Given the description of an element on the screen output the (x, y) to click on. 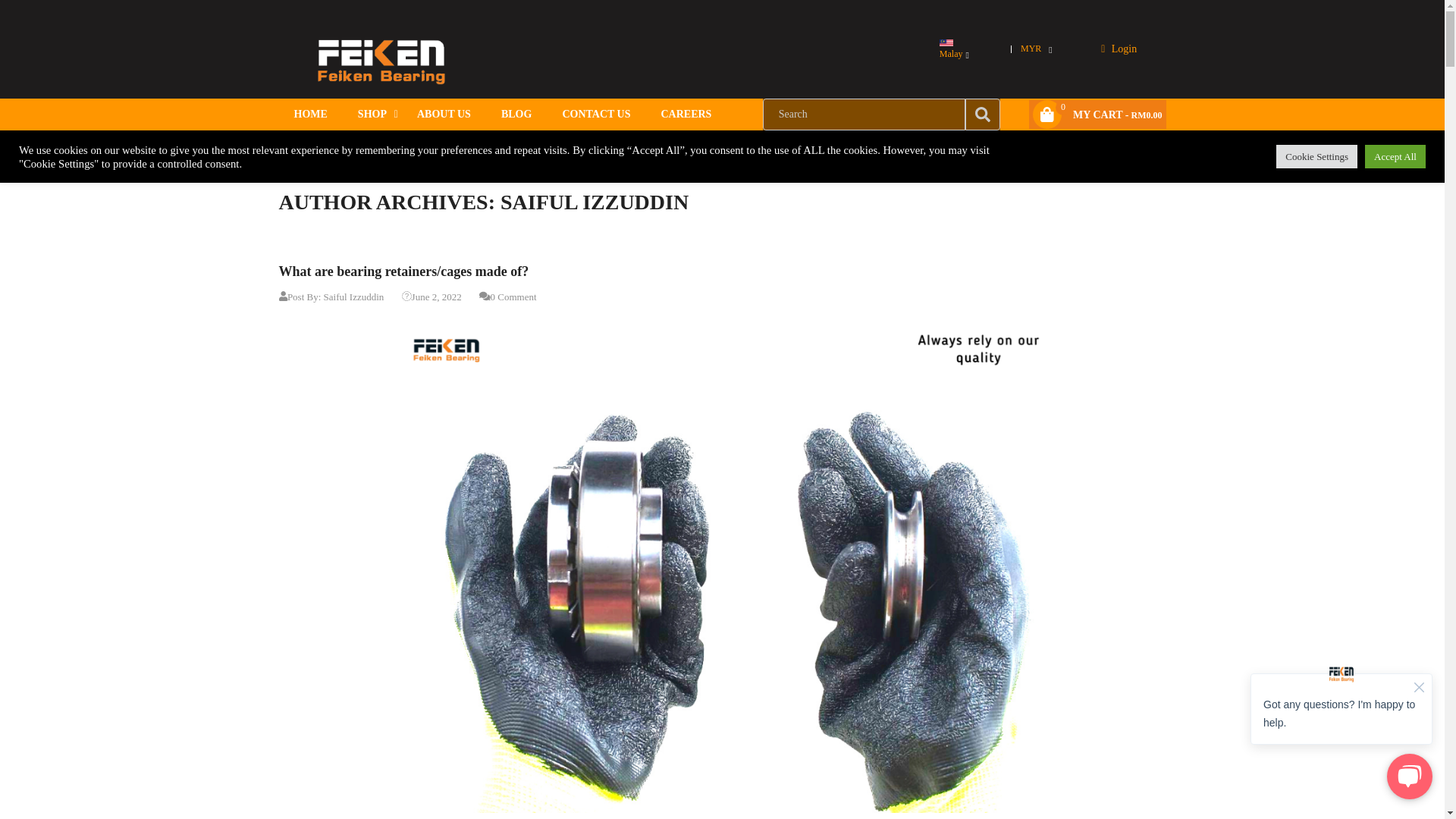
Malay (946, 42)
Malay (952, 49)
Login (1124, 49)
0 Comment (508, 296)
HOME (310, 114)
CONTACT US (596, 114)
Home (290, 146)
SHOP (371, 114)
Saiful Izzuddin (353, 296)
ABOUT US (443, 114)
June 2, 2022 (431, 296)
BLOG (516, 114)
CAREERS (686, 114)
MYR (1034, 49)
